Given the description of an element on the screen output the (x, y) to click on. 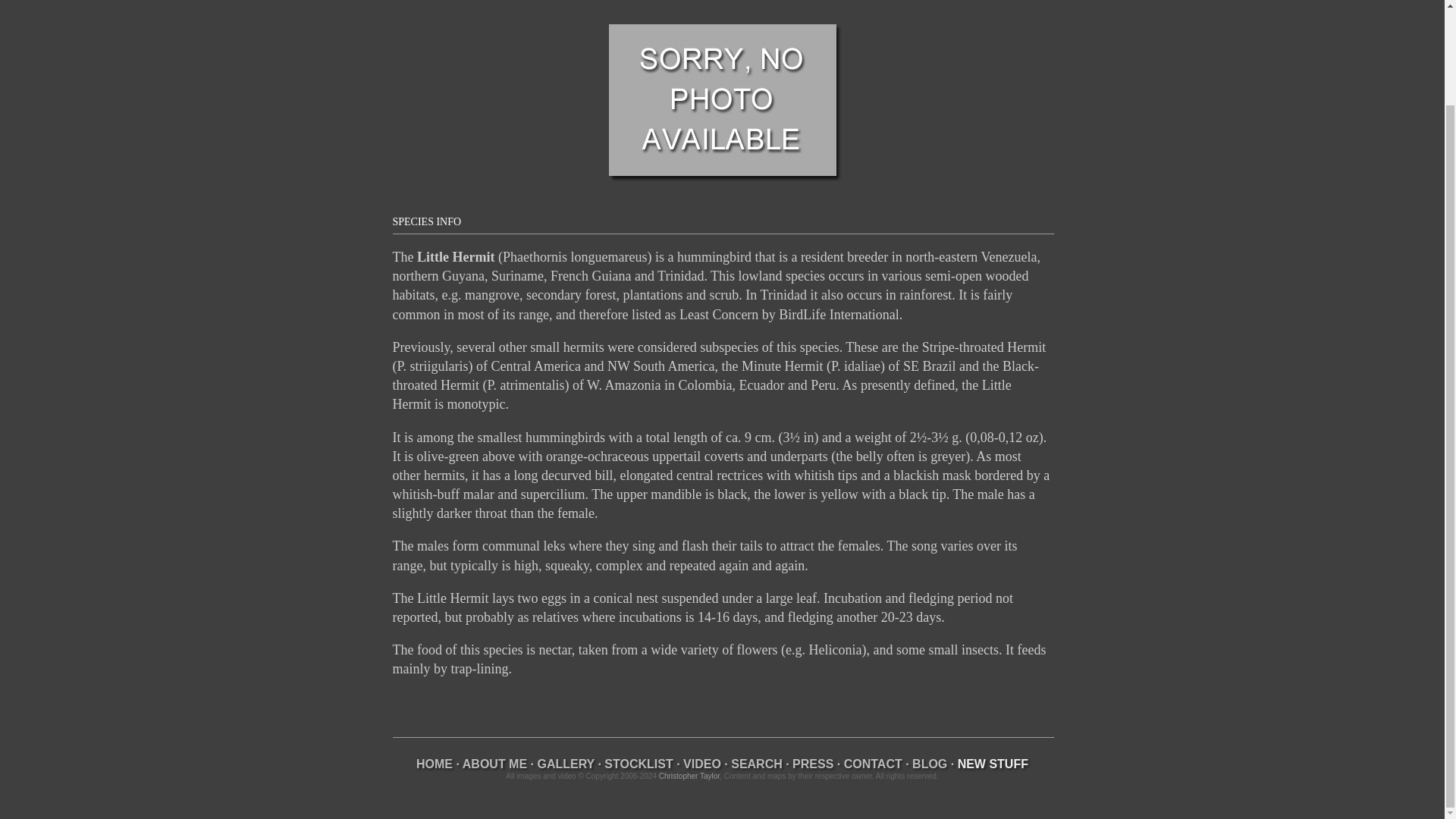
Christopher Taylor (689, 776)
Photo Galleries (565, 763)
NEW STUFF (992, 763)
PRESS (812, 763)
About Me (495, 763)
Contact Me (873, 763)
CONTACT (873, 763)
ABOUT ME (495, 763)
Press (812, 763)
HOME (434, 763)
Little Hermit Picture (721, 100)
Home (434, 763)
BLOG (929, 763)
Search (756, 763)
